Given the description of an element on the screen output the (x, y) to click on. 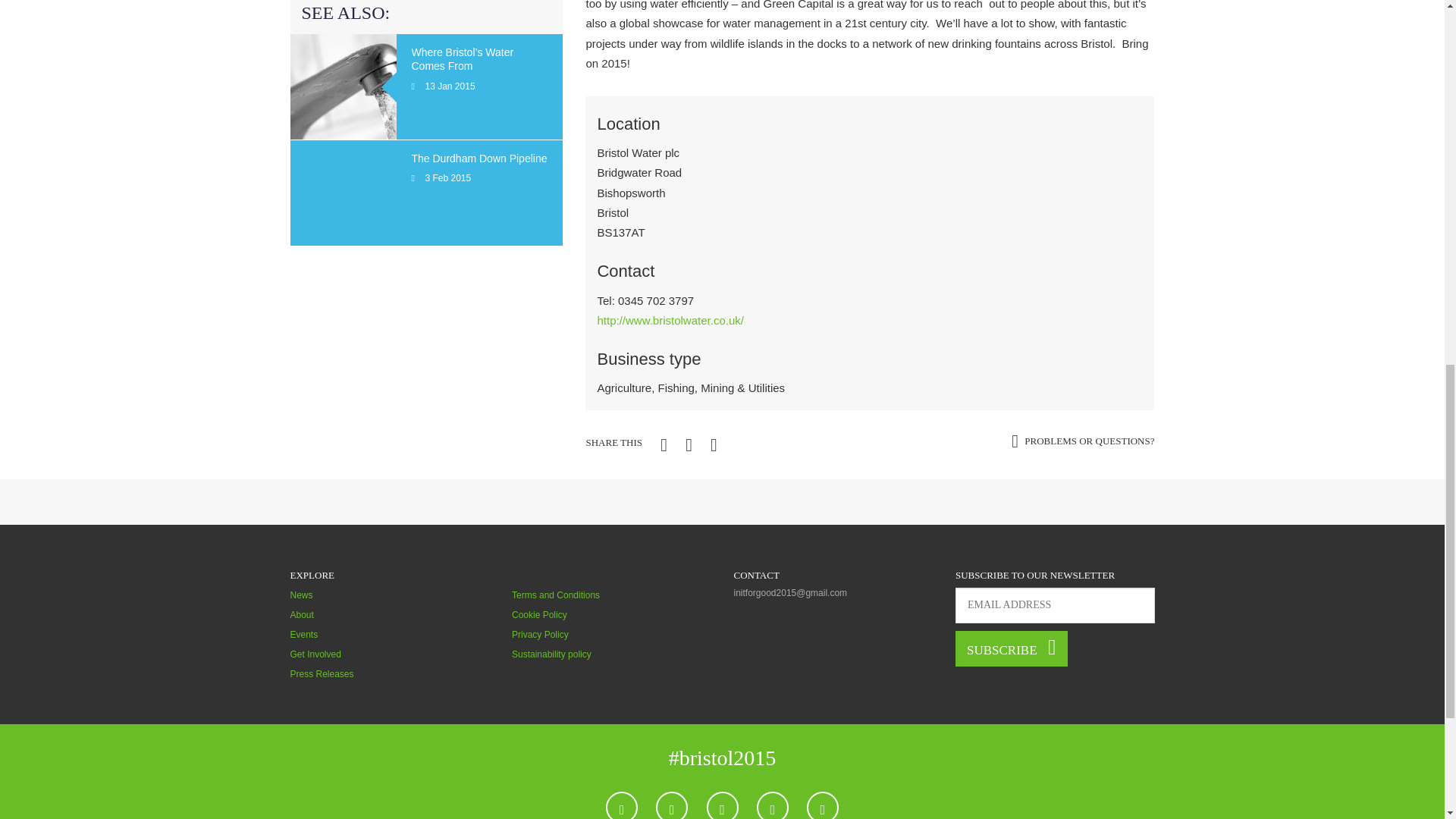
Facebook (621, 805)
Instagram (773, 805)
RSS feed (822, 805)
YouTube (722, 805)
Twitter (671, 805)
